Given the description of an element on the screen output the (x, y) to click on. 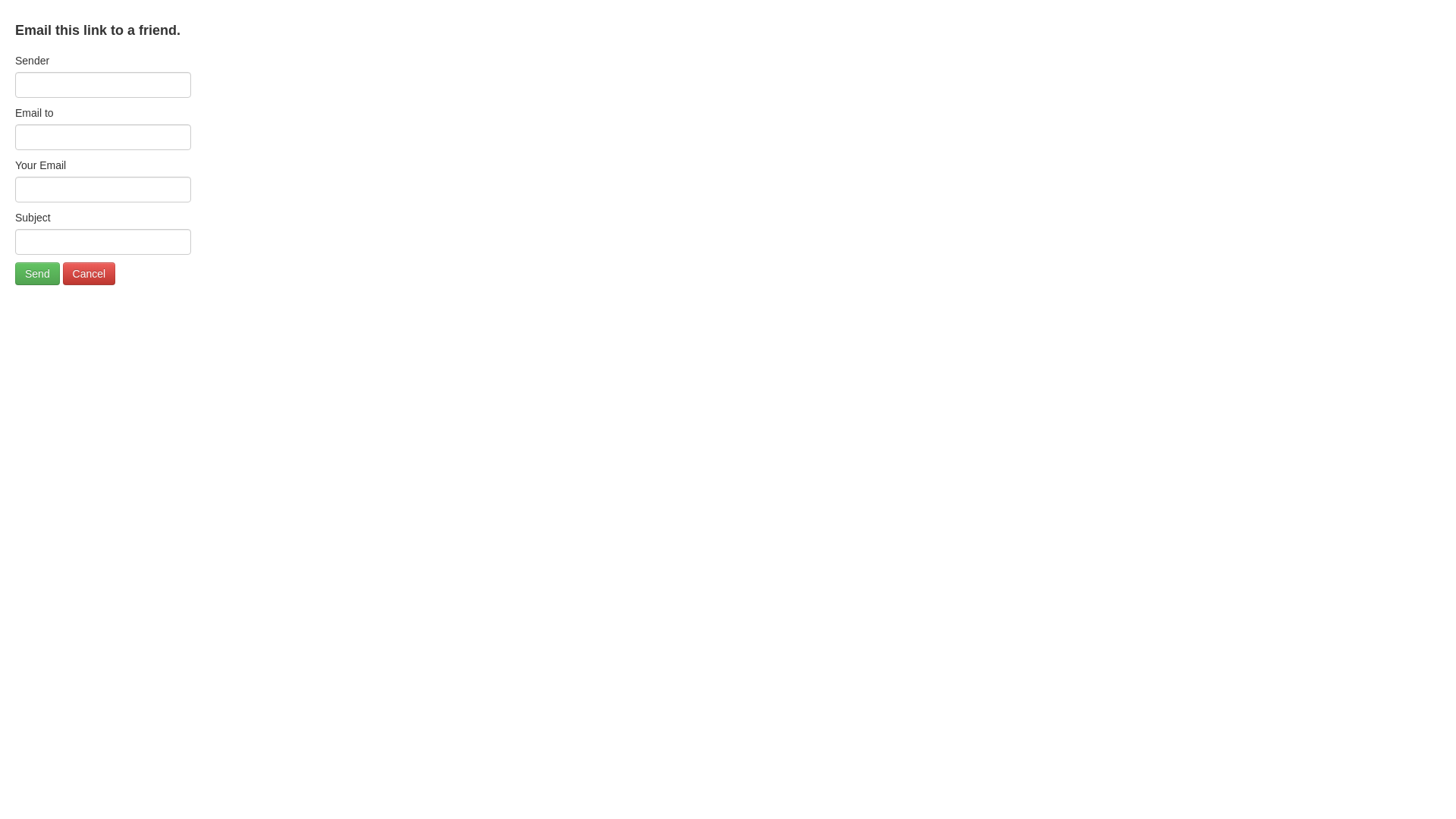
Cancel Element type: text (89, 273)
Send Element type: text (37, 273)
